Given the description of an element on the screen output the (x, y) to click on. 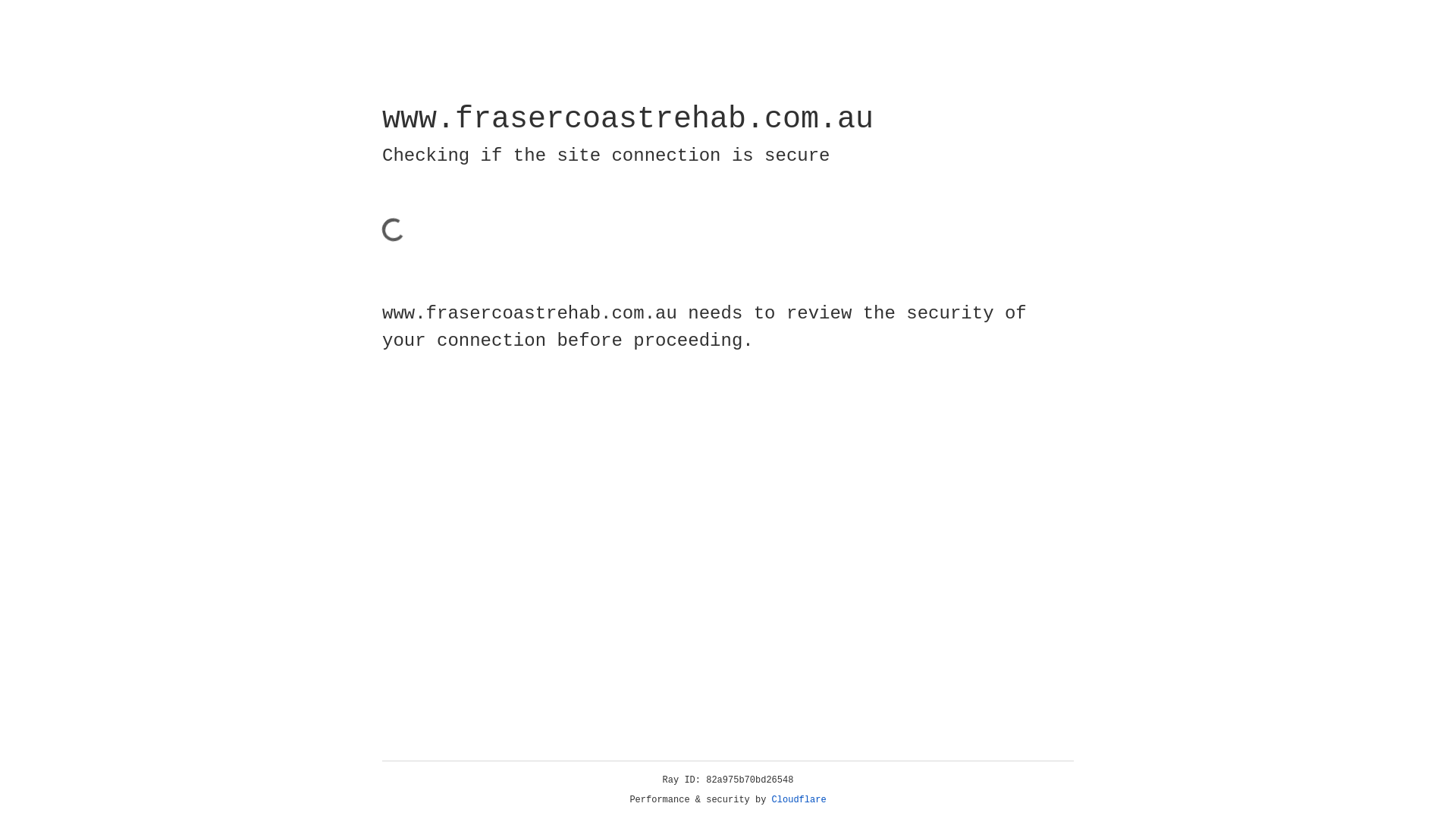
Cloudflare Element type: text (798, 799)
